Given the description of an element on the screen output the (x, y) to click on. 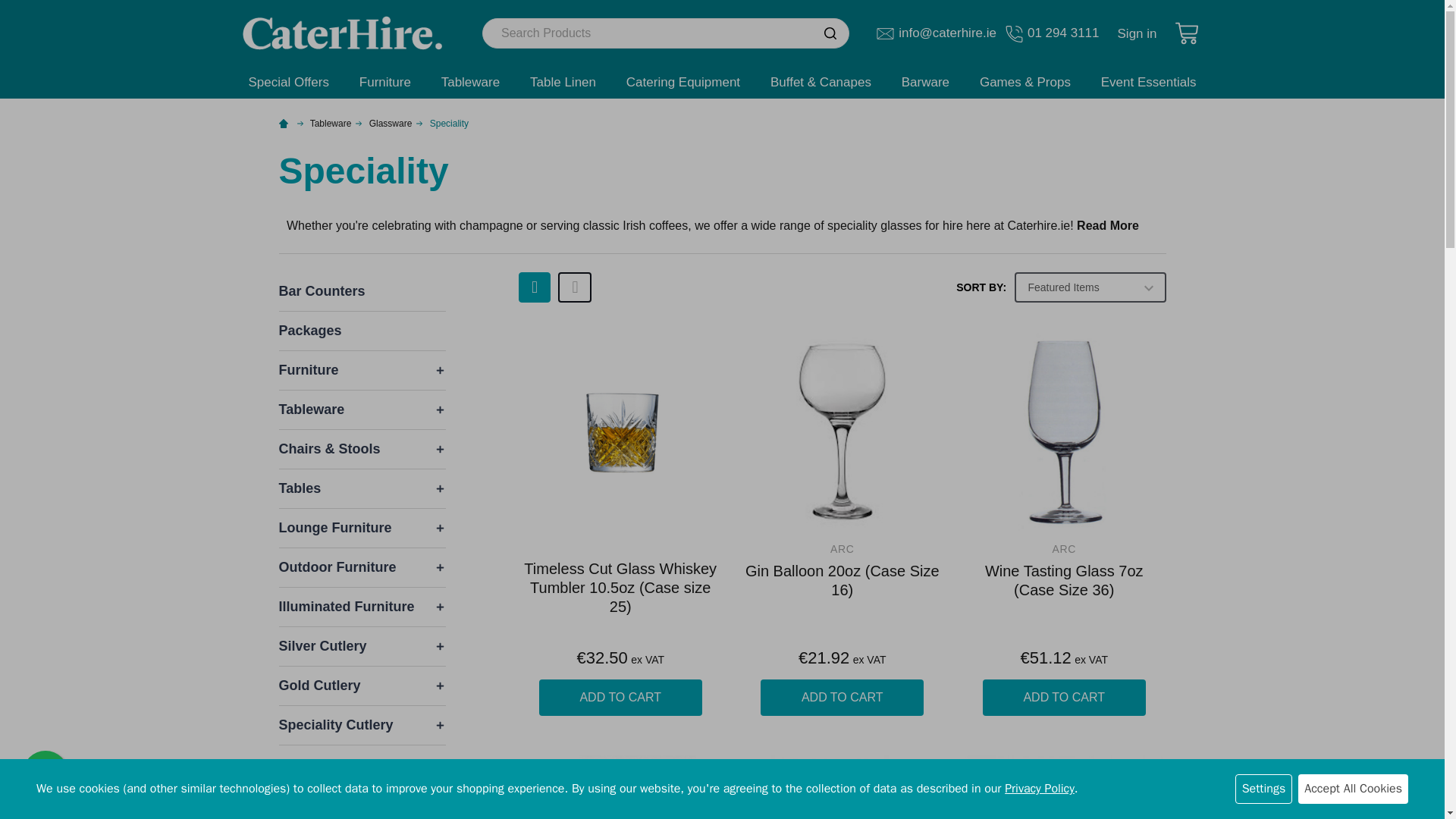
Special Offers (288, 82)
Sign in (1137, 33)
Furniture (384, 82)
Cart (1188, 33)
01 294 3111 (1052, 32)
Caterhire.ie (342, 32)
